Given the description of an element on the screen output the (x, y) to click on. 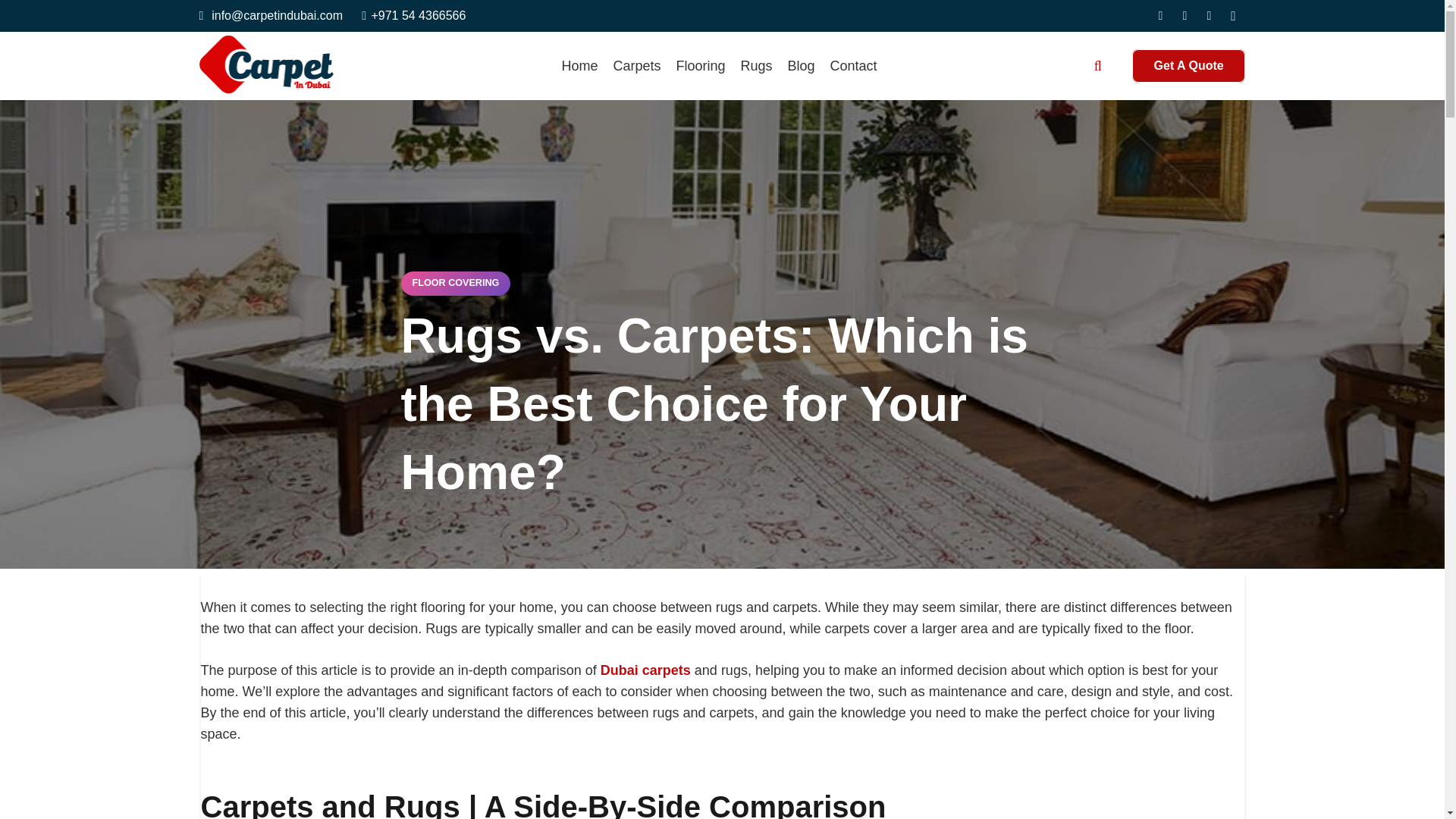
Flooring (700, 65)
Carpets (636, 65)
Rugs (755, 65)
Instagram (1232, 15)
LinkedIn (1208, 15)
Home (579, 65)
Twitter (1184, 15)
Facebook (1160, 15)
Contact (853, 65)
Blog (801, 65)
